Given the description of an element on the screen output the (x, y) to click on. 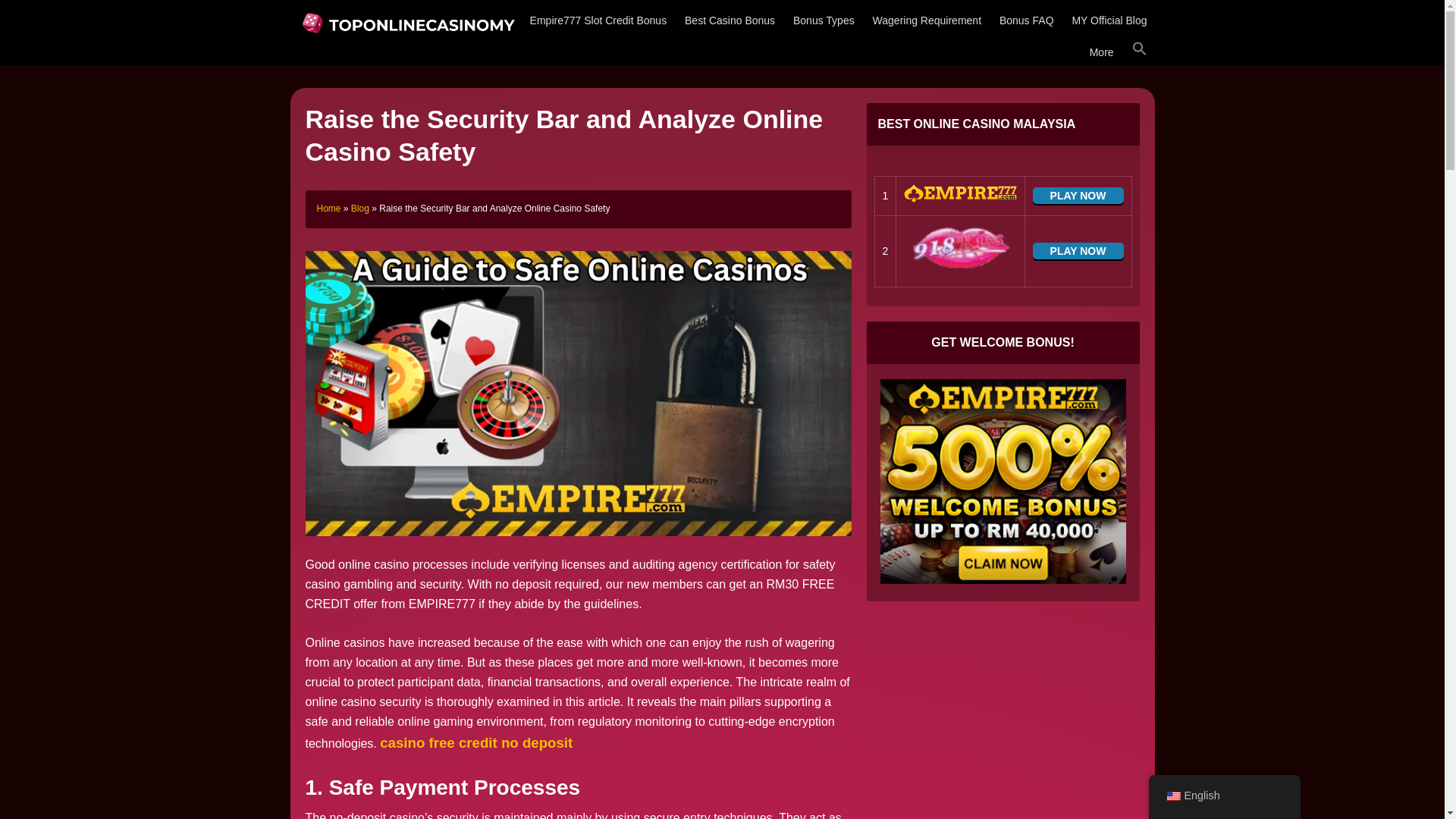
MY Official Blog (1109, 20)
Blog (359, 208)
Wagering Requirement (926, 20)
casino free credit no deposit (476, 742)
Bonus FAQ (1026, 20)
Top Online Casino in Malaysia (406, 21)
Empire777 Slot Credit Bonus (598, 20)
English (1172, 795)
Home (328, 208)
More (1101, 52)
Best Casino Bonus (730, 20)
Bonus Types (823, 20)
